Given the description of an element on the screen output the (x, y) to click on. 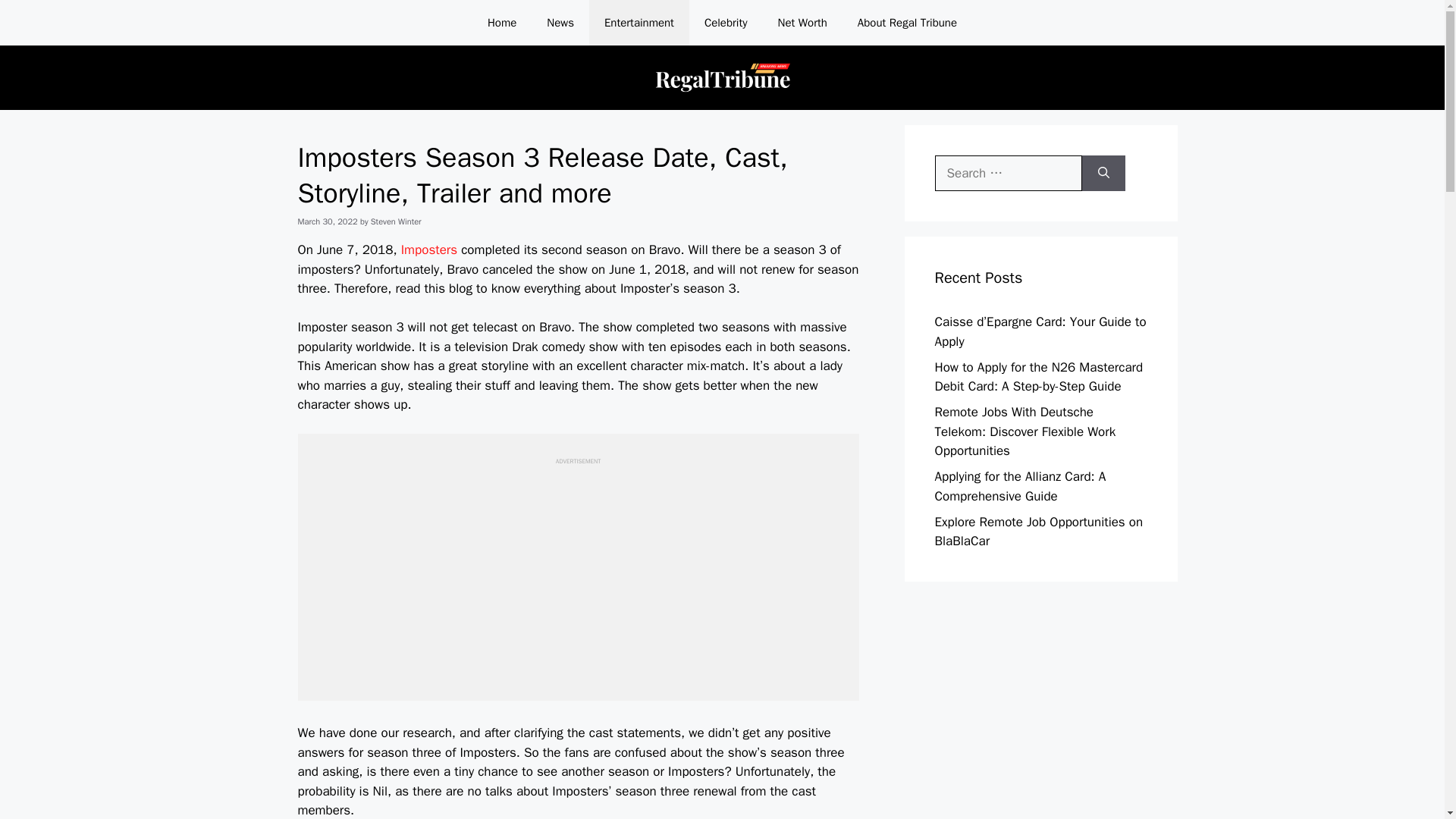
About Regal Tribune (907, 22)
View all posts by Steven Winter (396, 221)
Search for: (1007, 173)
Entertainment (638, 22)
Imposters (429, 249)
Applying for the Allianz Card: A Comprehensive Guide (1019, 486)
News (560, 22)
Net Worth (802, 22)
